Given the description of an element on the screen output the (x, y) to click on. 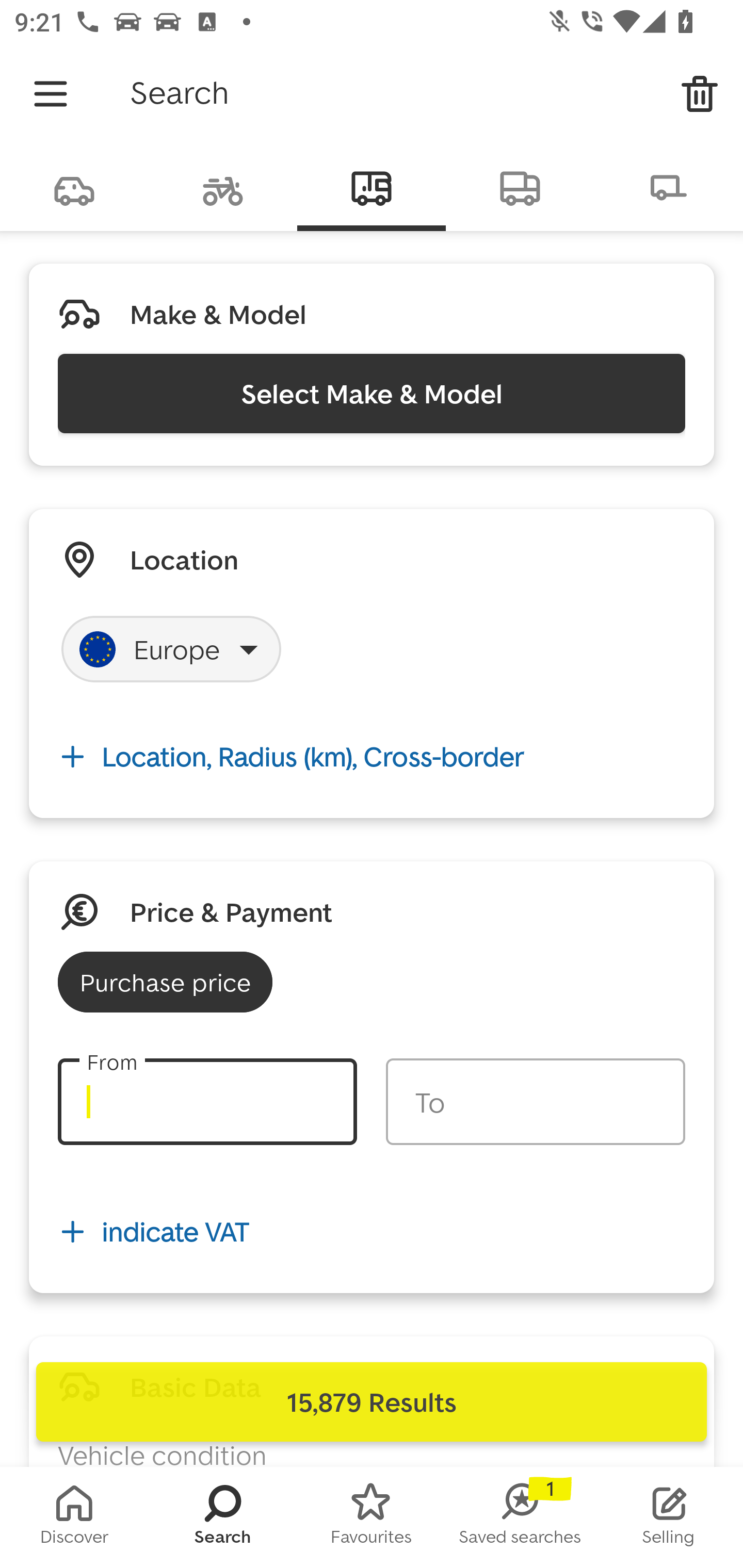
Navigate up (50, 93)
New search (699, 93)
CAR_SEARCH (74, 187)
BIKE_SEARCH (222, 187)
TRUCKS_SEARCH (519, 187)
TRAILERS_SEARCH (668, 187)
Make & Model (218, 314)
Select Make & Model (371, 393)
Location (184, 559)
Europe (170, 648)
Location, Radius (km), Cross-border (371, 756)
Price & Payment (231, 911)
Purchase price (164, 981)
From (207, 1101)
To (535, 1101)
indicate VAT (371, 1231)
15,879 Results (371, 1401)
HOMESCREEN Discover (74, 1517)
SEARCH Search (222, 1517)
FAVORITES Favourites (371, 1517)
SAVED_SEARCHES Saved searches 1 (519, 1517)
STOCK_LIST Selling (668, 1517)
